Given the description of an element on the screen output the (x, y) to click on. 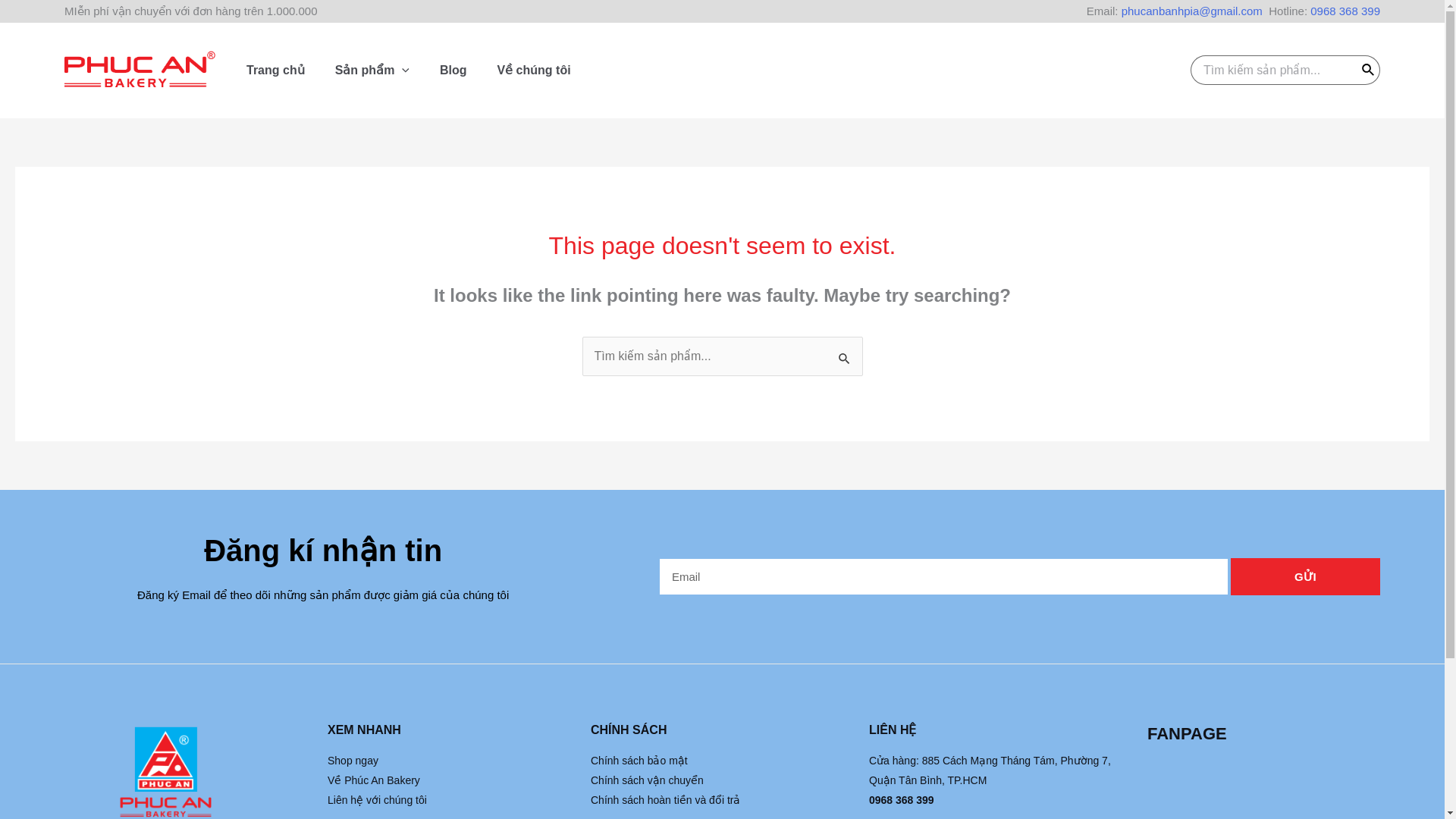
0968 368 399 (1345, 10)
Blog (453, 70)
